Given the description of an element on the screen output the (x, y) to click on. 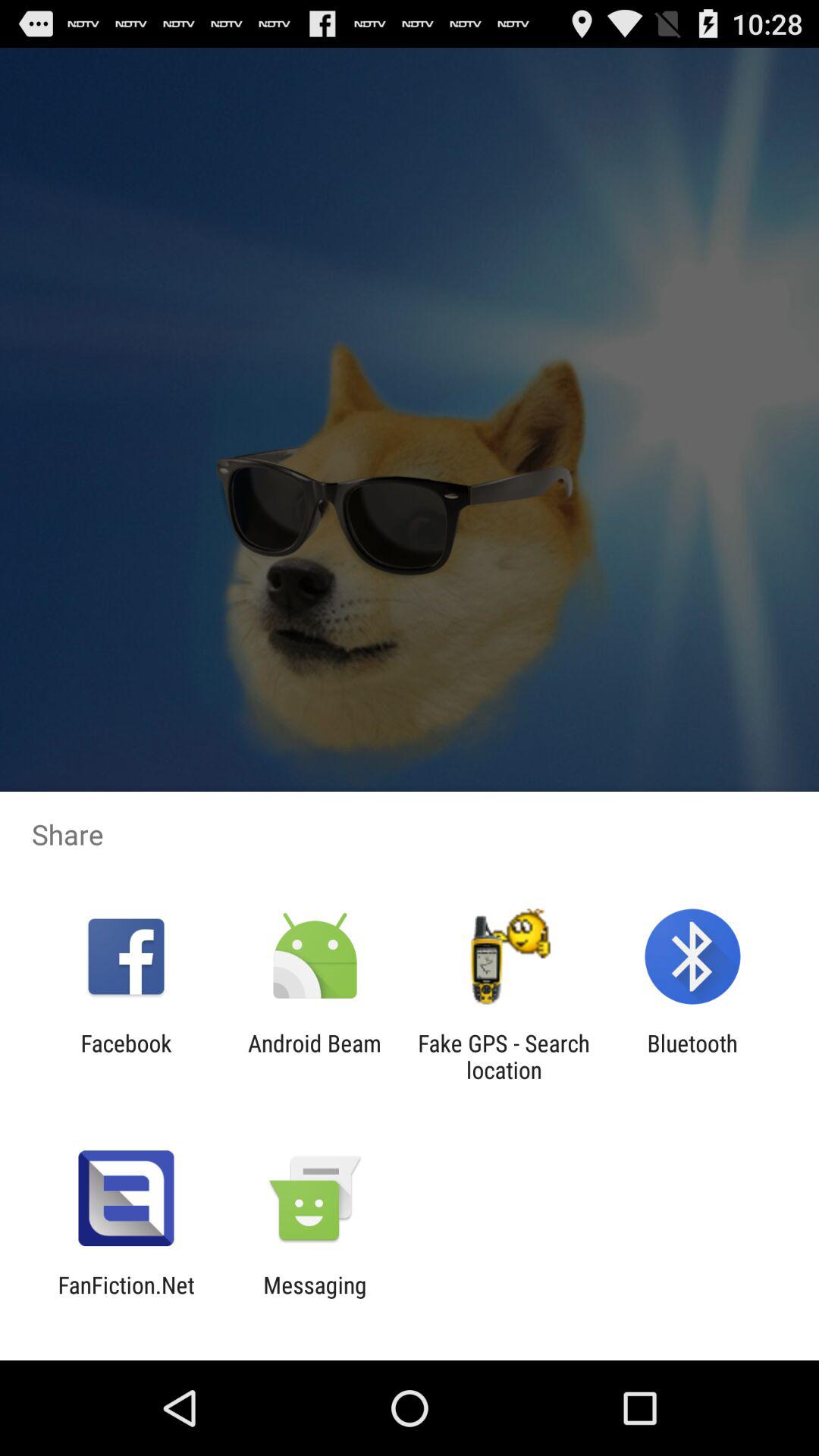
turn on the icon next to facebook item (314, 1056)
